Given the description of an element on the screen output the (x, y) to click on. 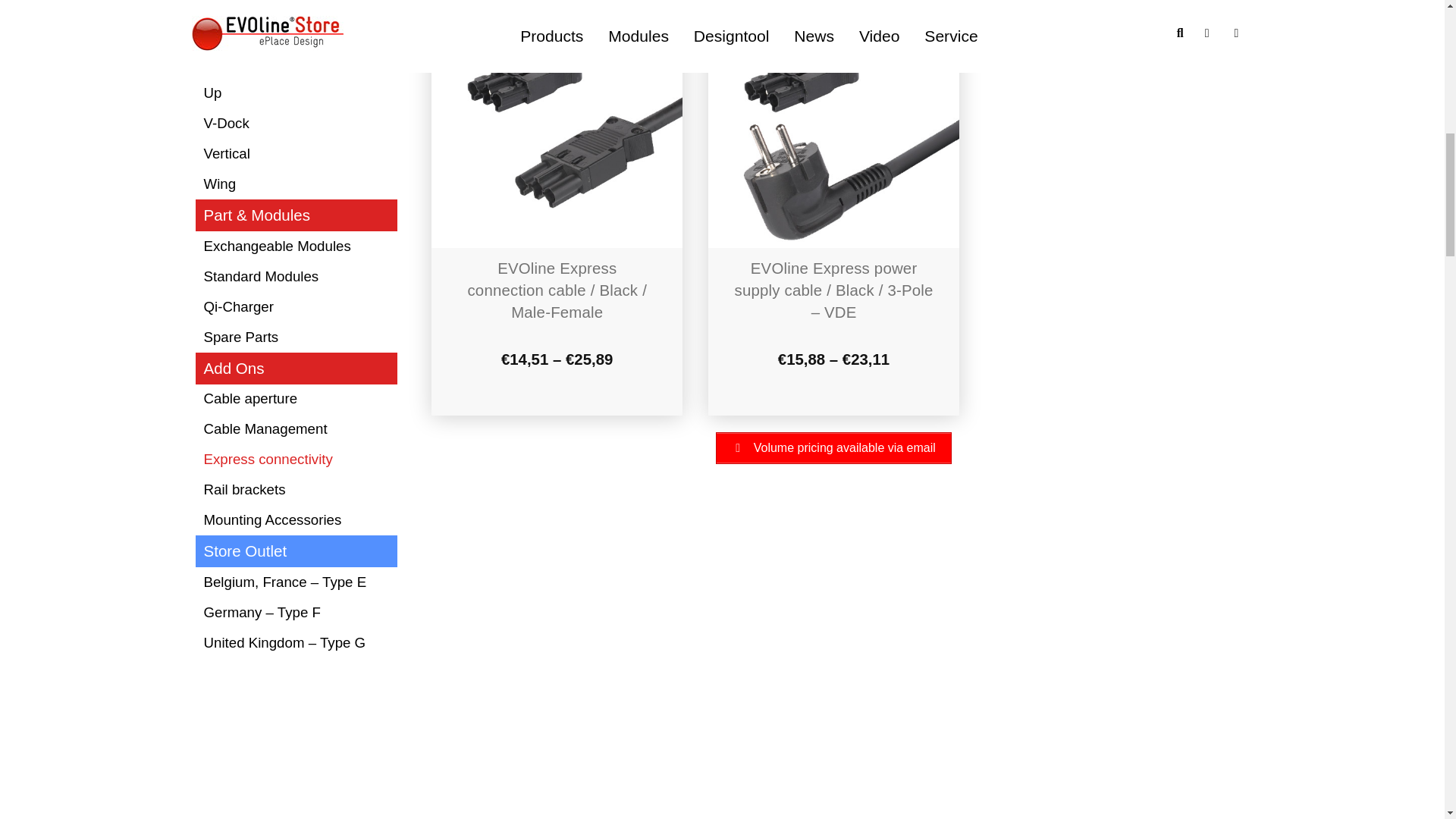
T-Dock (296, 33)
Vertical (296, 154)
Wing (296, 184)
U-Dock (296, 63)
R-Dock (296, 9)
Up (296, 93)
Exchangeable Modules (296, 245)
V-Dock (296, 123)
